Given the description of an element on the screen output the (x, y) to click on. 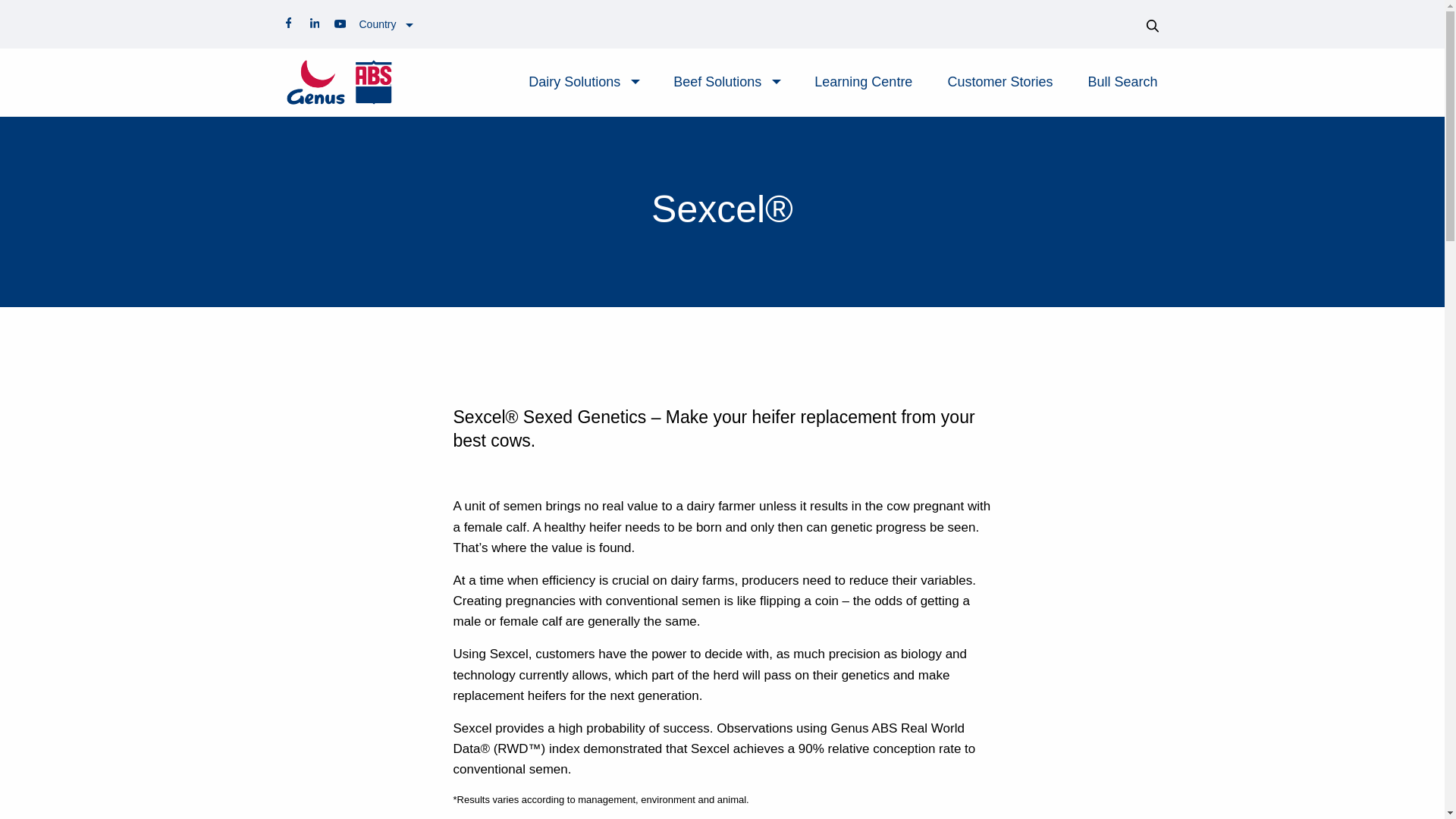
Bull Search (1122, 82)
Beef Solutions (716, 82)
Customer Stories (999, 82)
Learning Centre (863, 82)
